Given the description of an element on the screen output the (x, y) to click on. 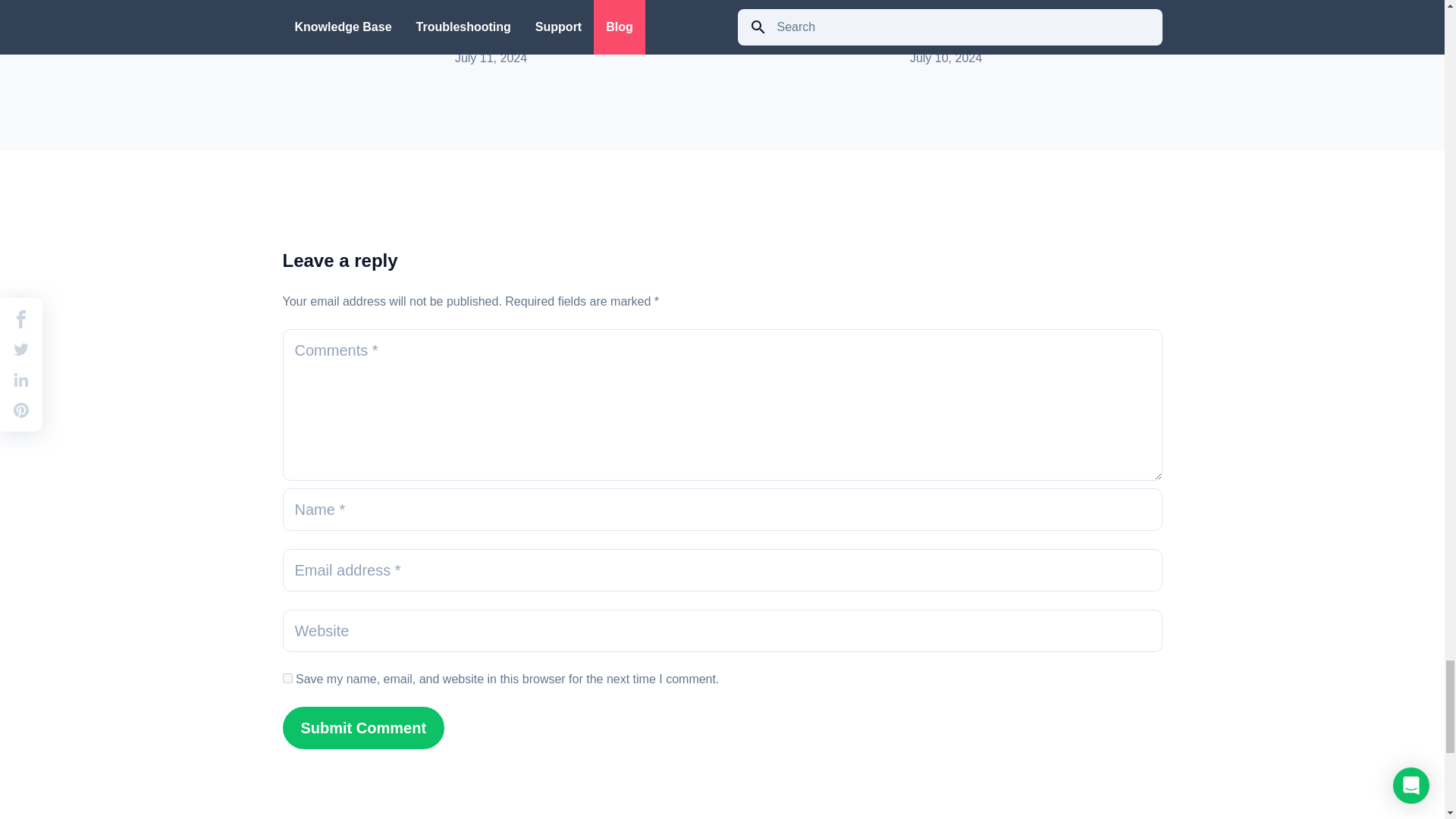
yes (287, 678)
Submit Comment (363, 727)
